Given the description of an element on the screen output the (x, y) to click on. 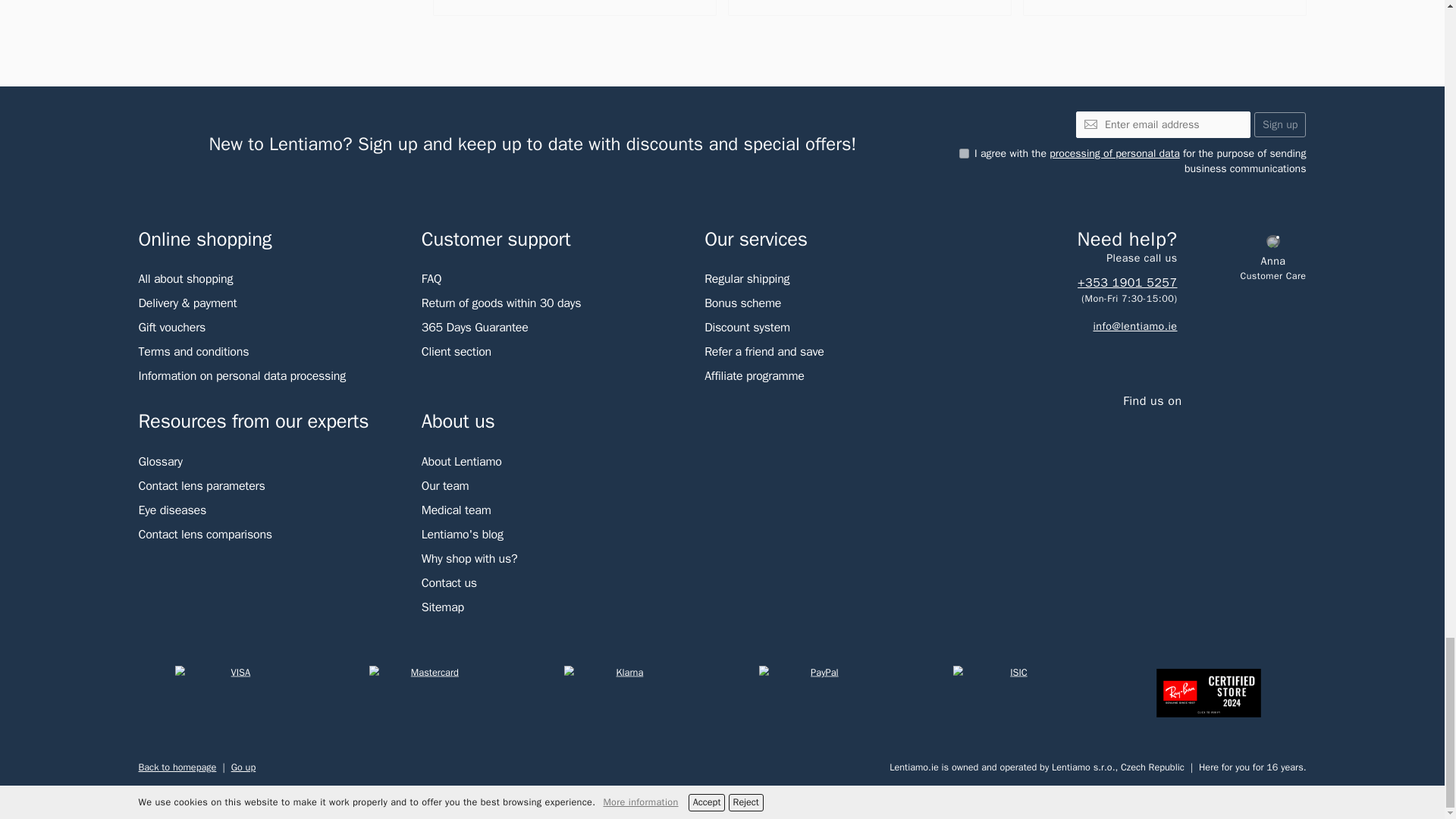
1 (964, 153)
